Given the description of an element on the screen output the (x, y) to click on. 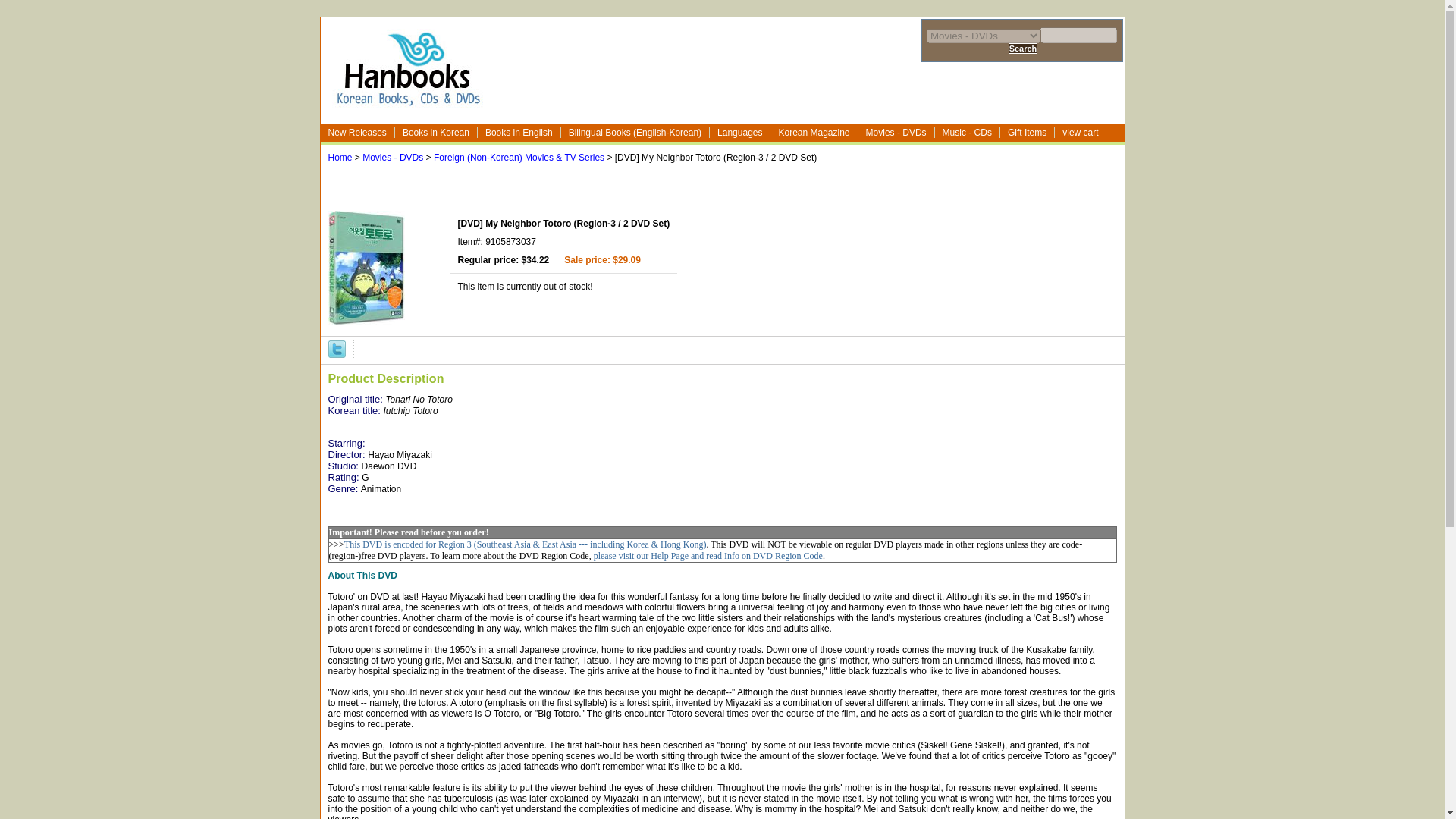
Gift Items (1027, 132)
Search (1023, 48)
Music - CDs (967, 132)
Search (1023, 48)
New Releases (357, 132)
Korean Books, CDs and DVDs, K-POP, K-Drama (407, 99)
Books in English (518, 132)
Korean Magazine (813, 132)
Search (1023, 48)
Music - CDs (967, 132)
Gift Items (1027, 132)
Tweet (336, 348)
view cart (1081, 132)
Movies - DVDs (896, 132)
view cart (1081, 132)
